Given the description of an element on the screen output the (x, y) to click on. 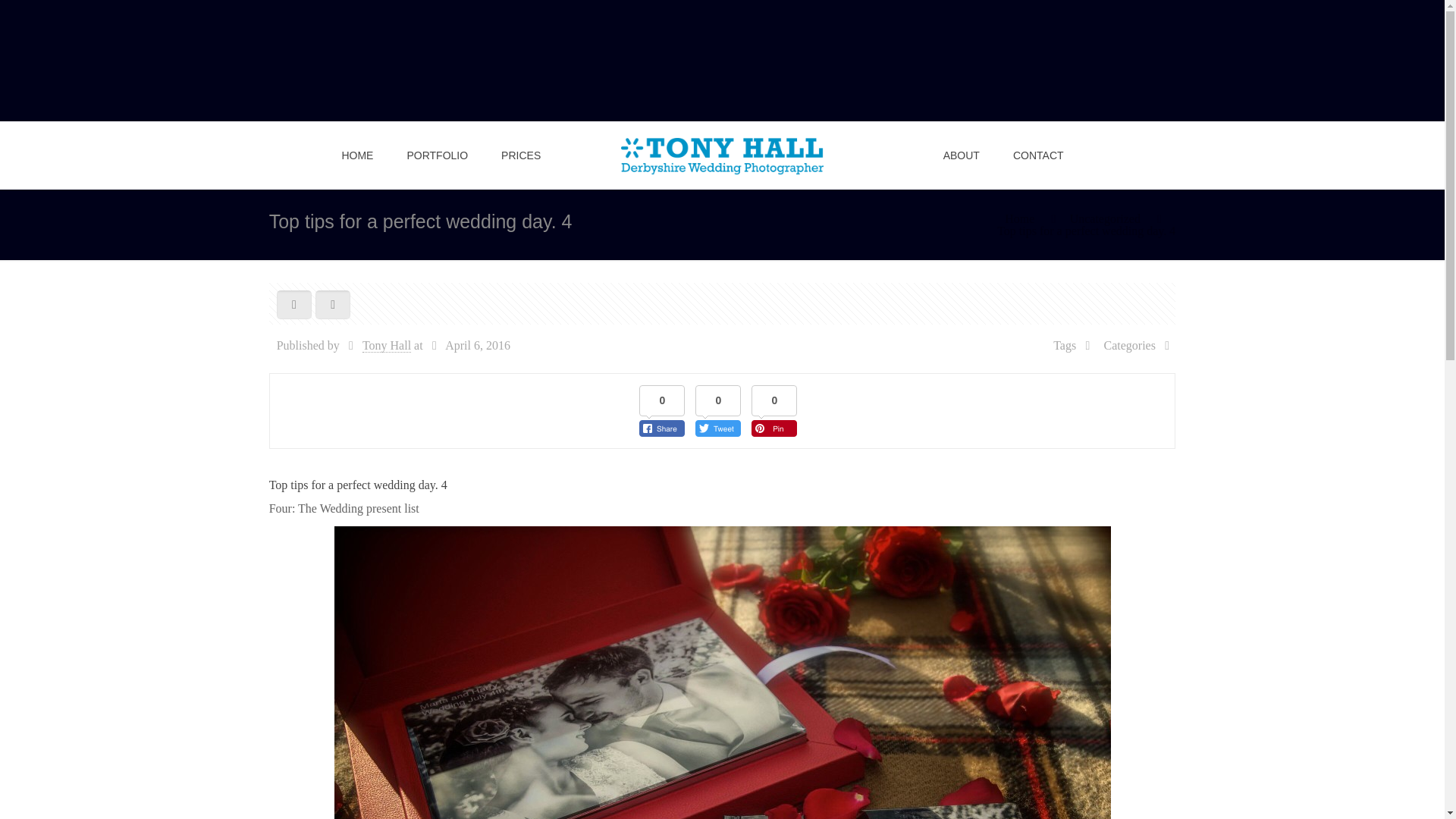
PORTFOLIO (437, 155)
PRICES (521, 155)
CONTACT (1037, 155)
Uncategorized (1105, 218)
ABOUT (961, 155)
Tony Hall (386, 345)
Home (1018, 218)
HOME (357, 155)
